Given the description of an element on the screen output the (x, y) to click on. 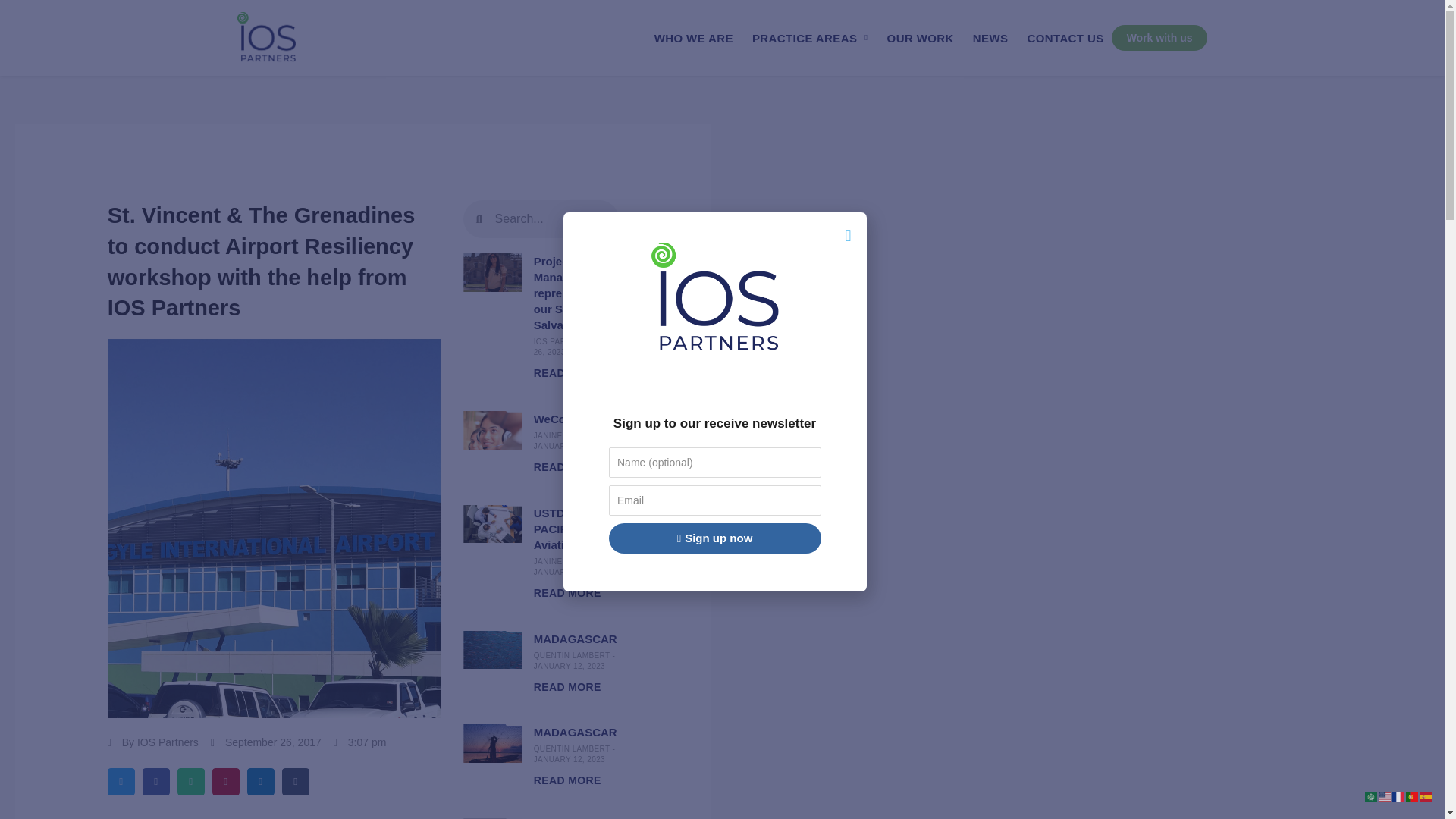
Spanish (1425, 795)
CONTACT US (1064, 37)
WHO WE ARE (693, 37)
OUR WORK (919, 37)
French (1398, 795)
Portuguese (1412, 795)
NEWS (990, 37)
Arabic (1371, 795)
PRACTICE AREAS (809, 37)
English (1384, 795)
